Given the description of an element on the screen output the (x, y) to click on. 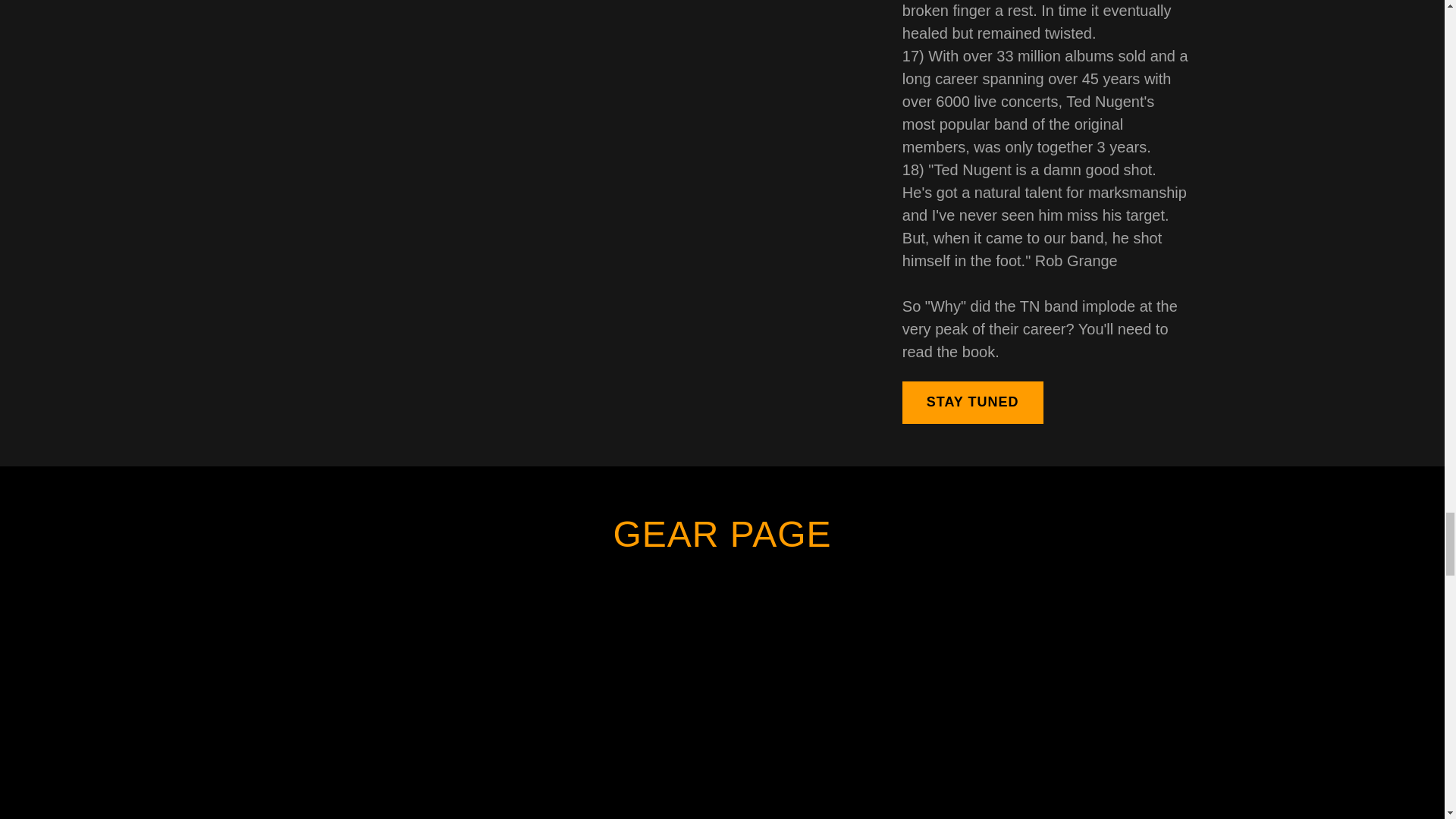
STAY TUNED (972, 402)
